Given the description of an element on the screen output the (x, y) to click on. 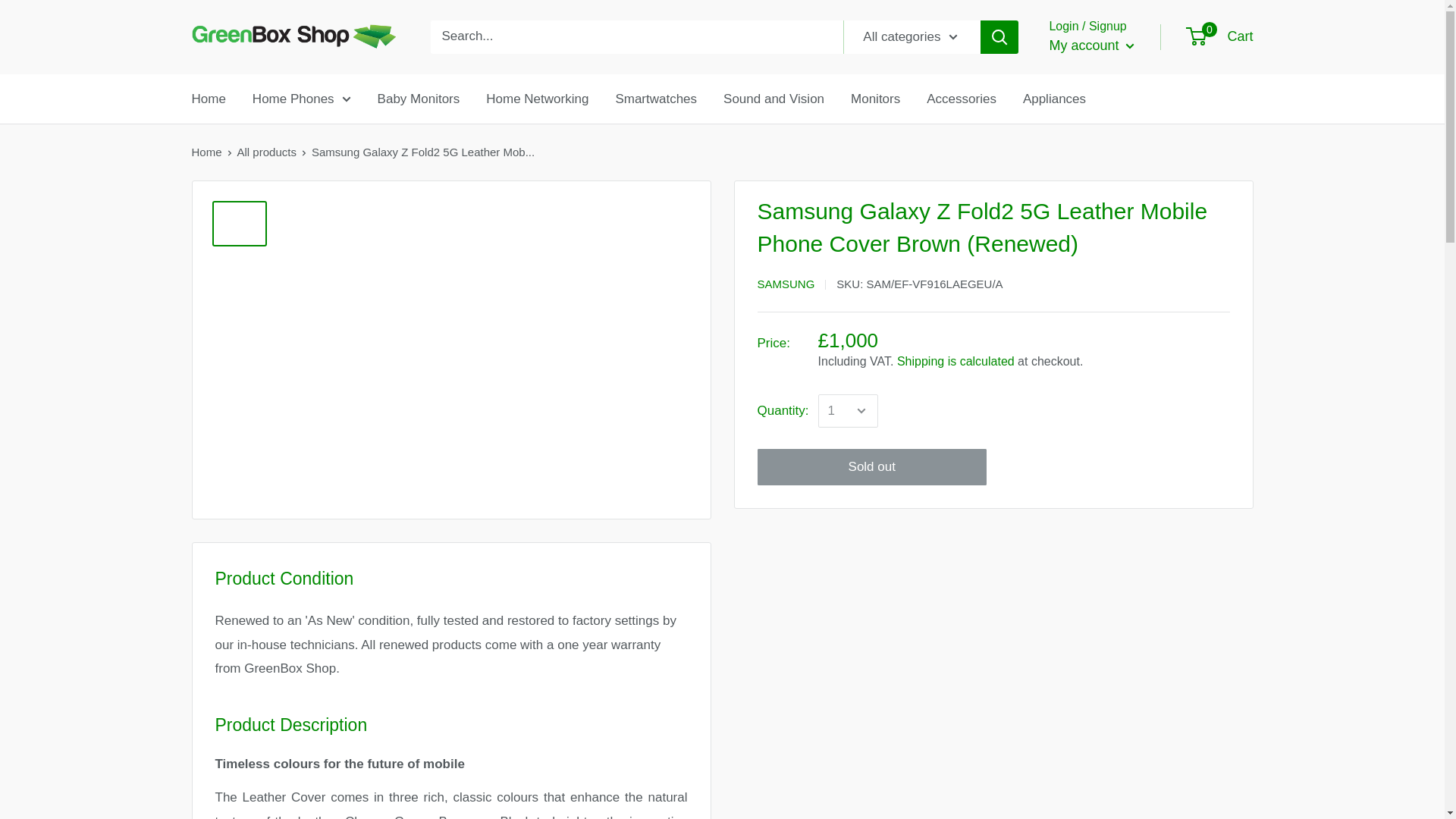
Home (207, 98)
Home Phones (300, 98)
My account (1091, 45)
